Given the description of an element on the screen output the (x, y) to click on. 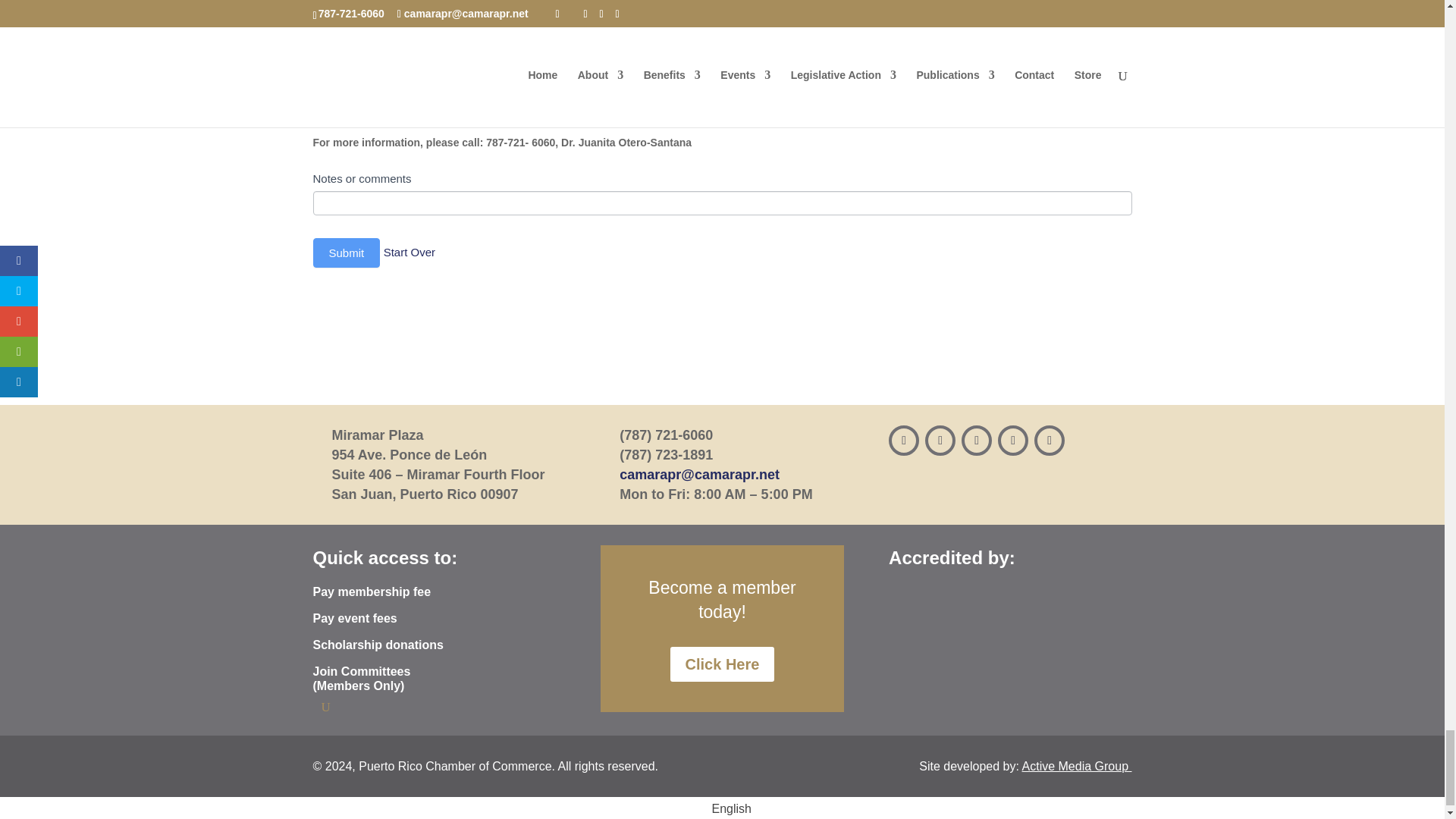
Follow on LinkedIn (1012, 440)
Follow on Facebook (903, 440)
Follow on X (975, 440)
Follow on Instagram (939, 440)
Follow on Youtube (1048, 440)
